Given the description of an element on the screen output the (x, y) to click on. 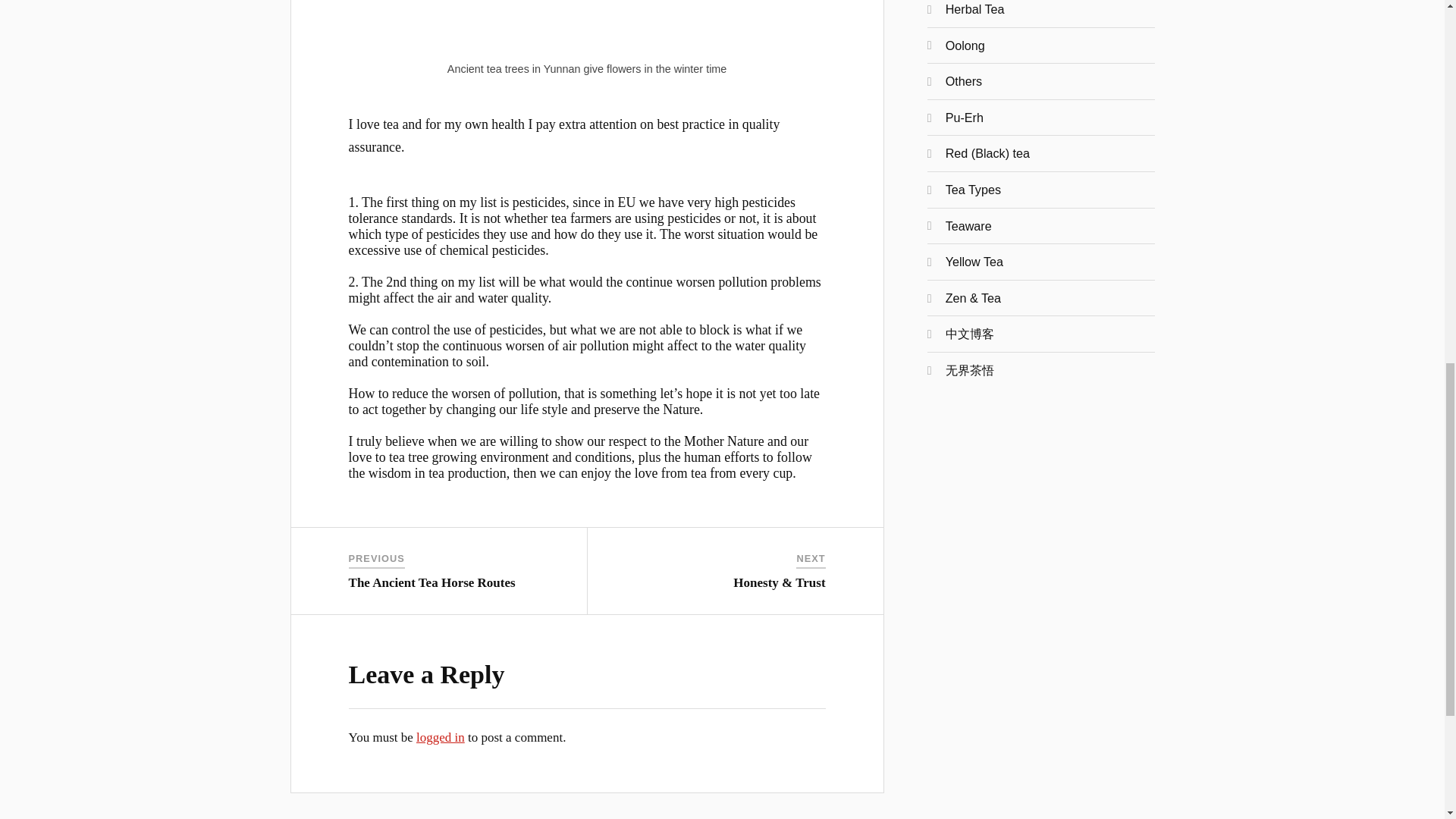
The Ancient Tea Horse Routes (432, 582)
Tea Types (972, 189)
Herbal Tea (974, 8)
Yellow Tea (973, 261)
Others (962, 80)
logged in (440, 737)
Oolong (964, 45)
Pu-Erh (964, 117)
Teaware (967, 225)
